Given the description of an element on the screen output the (x, y) to click on. 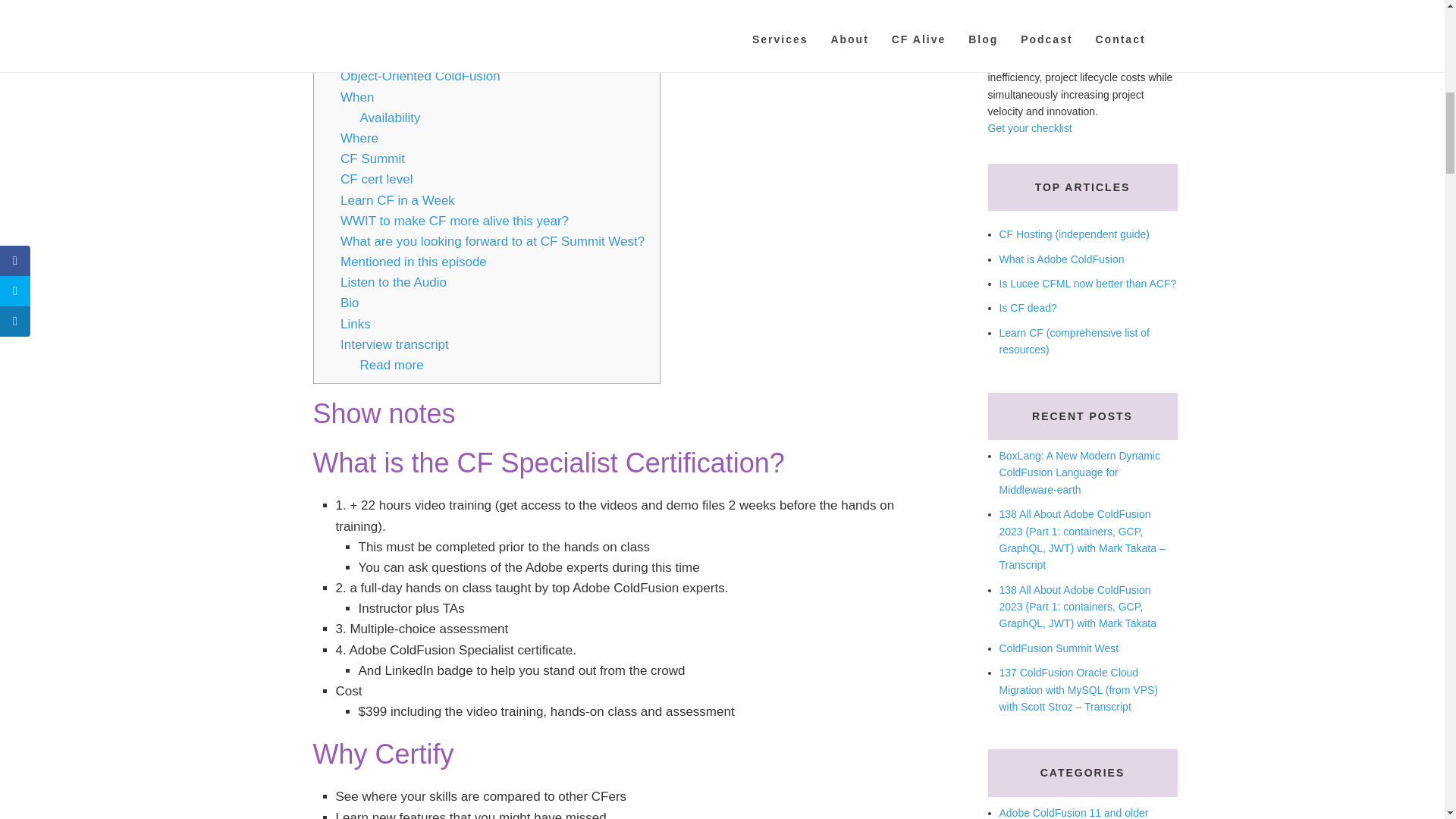
Object-Oriented ColdFusion (420, 75)
Application Framework (405, 34)
PDF Operations in CF (403, 55)
Shared Scopes and Handling State (440, 14)
CF Summit (372, 158)
Availability (389, 117)
When (357, 97)
CF cert level (376, 178)
Where (359, 138)
Variable and Data Types (410, 0)
